Given the description of an element on the screen output the (x, y) to click on. 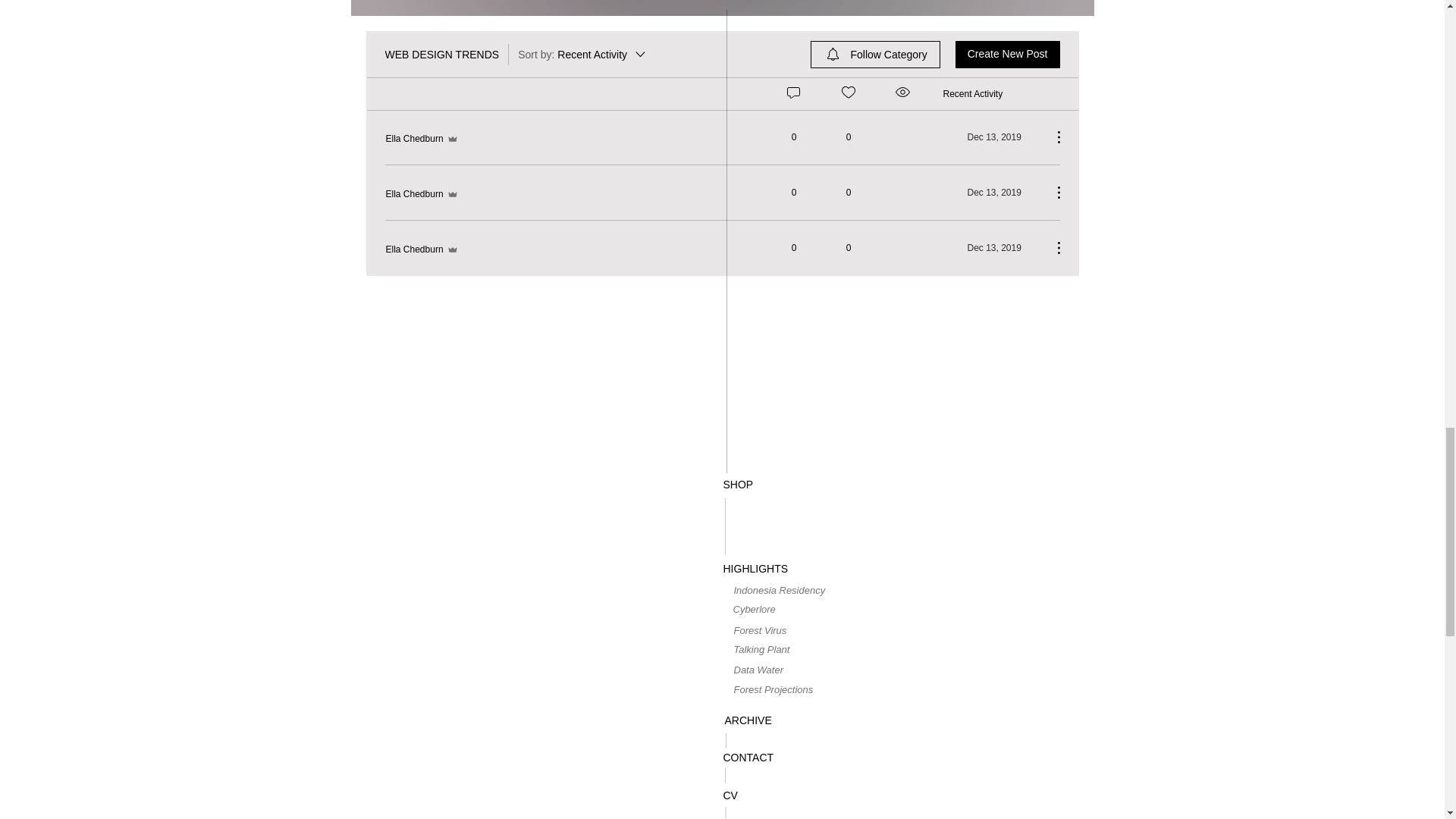
Follow Category (875, 53)
Talking Plant (777, 649)
CONTACT (748, 758)
Reactions (848, 92)
Forest Virus (780, 630)
ARCHIVE (748, 720)
Ella Chedburn (421, 249)
Indonesia Residency (779, 590)
SHOP (738, 484)
Forest Projections (777, 689)
Create New Post (1007, 53)
Cyberlore (776, 609)
CV (730, 796)
Ella Chedburn (421, 138)
